Given the description of an element on the screen output the (x, y) to click on. 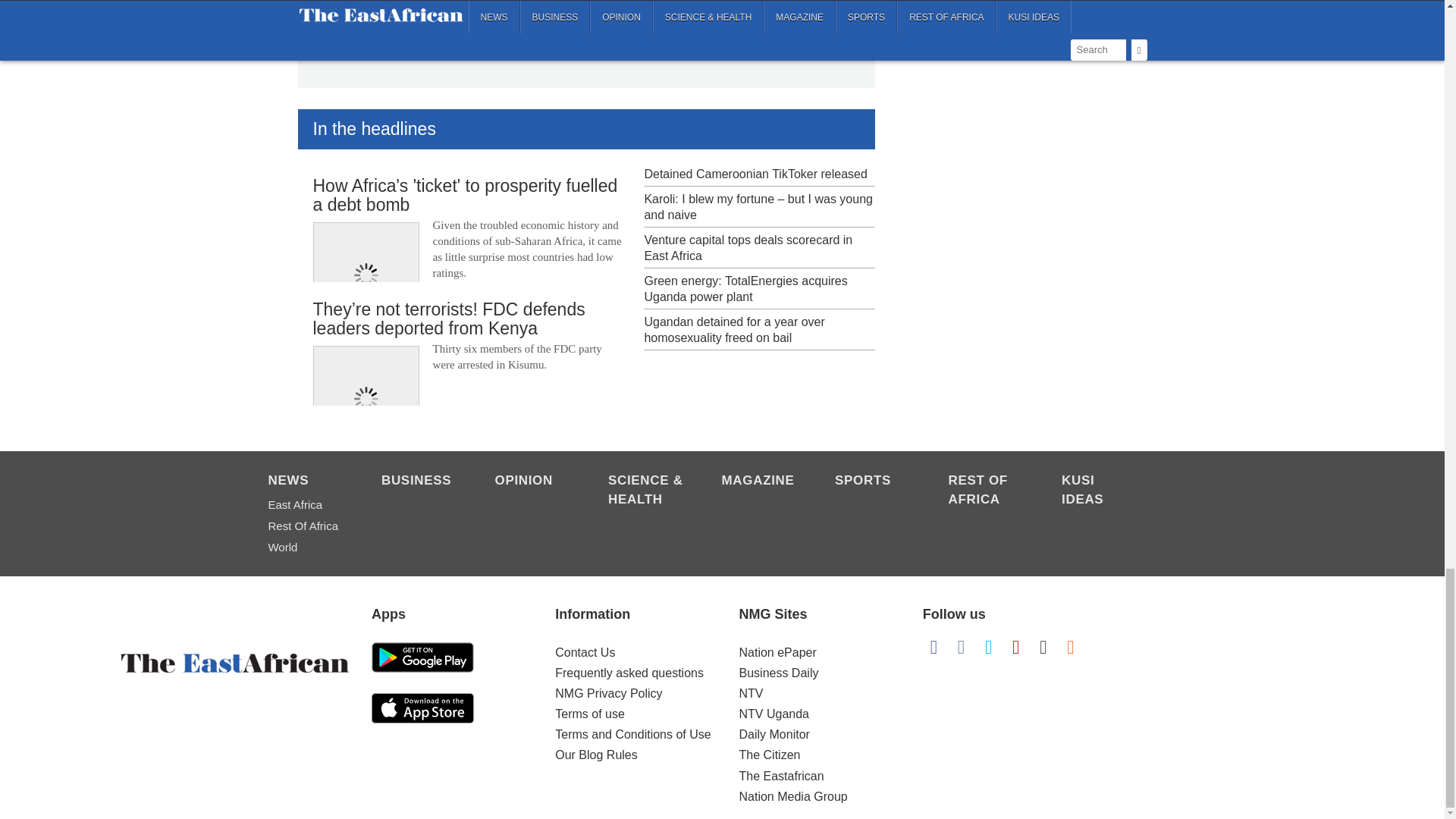
Rest of Africa (987, 491)
Frequently asked questions (628, 672)
East Africa (306, 504)
Opinion (533, 481)
News (306, 481)
Rest of Africa (306, 526)
Business (419, 481)
World (306, 547)
Magazine (760, 481)
Contact Us (584, 652)
